Given the description of an element on the screen output the (x, y) to click on. 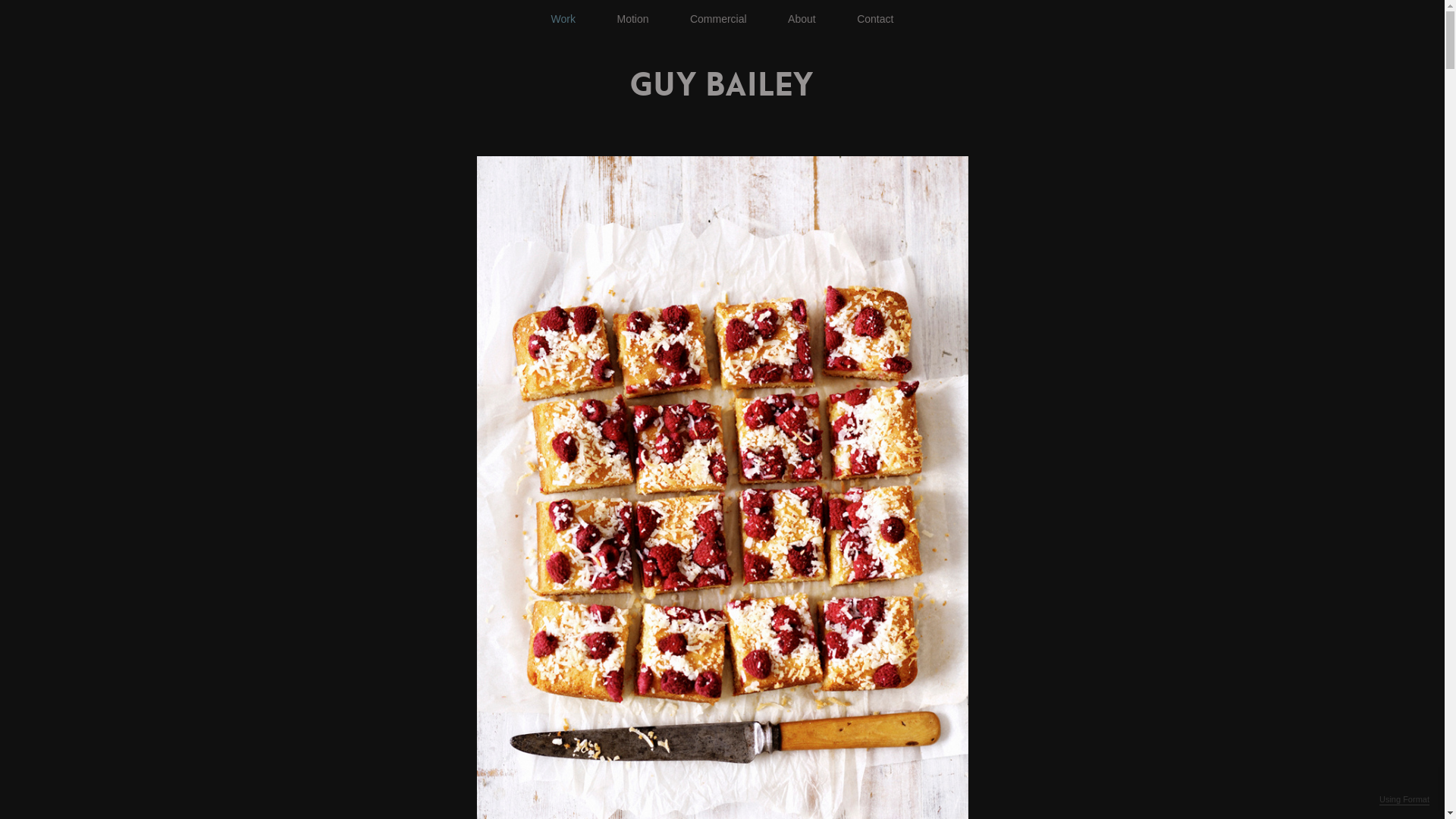
Contact Element type: text (874, 18)
Using Format Element type: text (1404, 799)
Work Element type: text (563, 18)
Commercial Element type: text (718, 18)
About Element type: text (801, 18)
GUY BAILEY Element type: text (722, 83)
Motion Element type: text (632, 18)
